Given the description of an element on the screen output the (x, y) to click on. 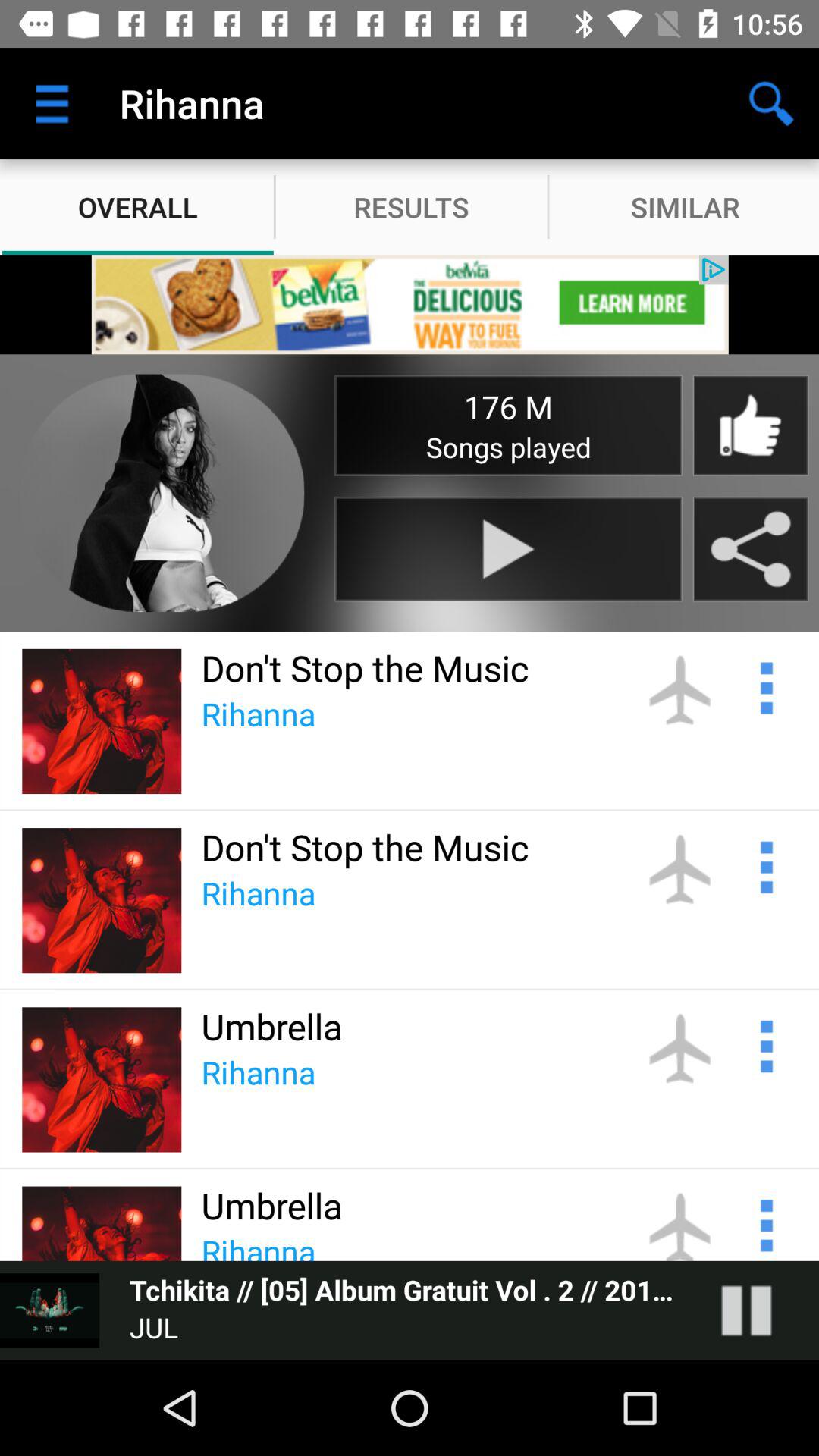
go to nofication (764, 685)
